Given the description of an element on the screen output the (x, y) to click on. 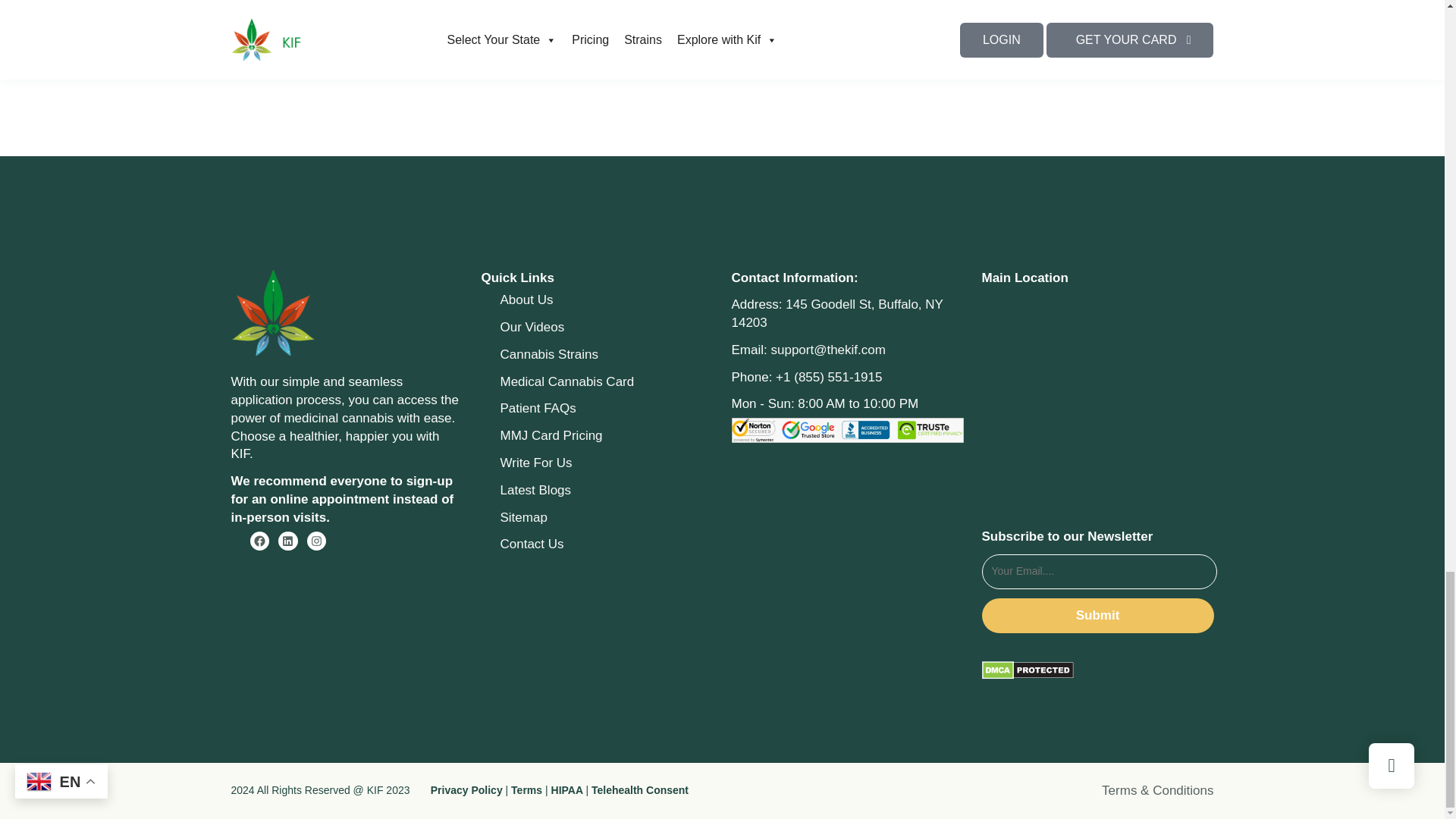
DMCA.com Protection Status (1027, 669)
Submit (1096, 615)
